Given the description of an element on the screen output the (x, y) to click on. 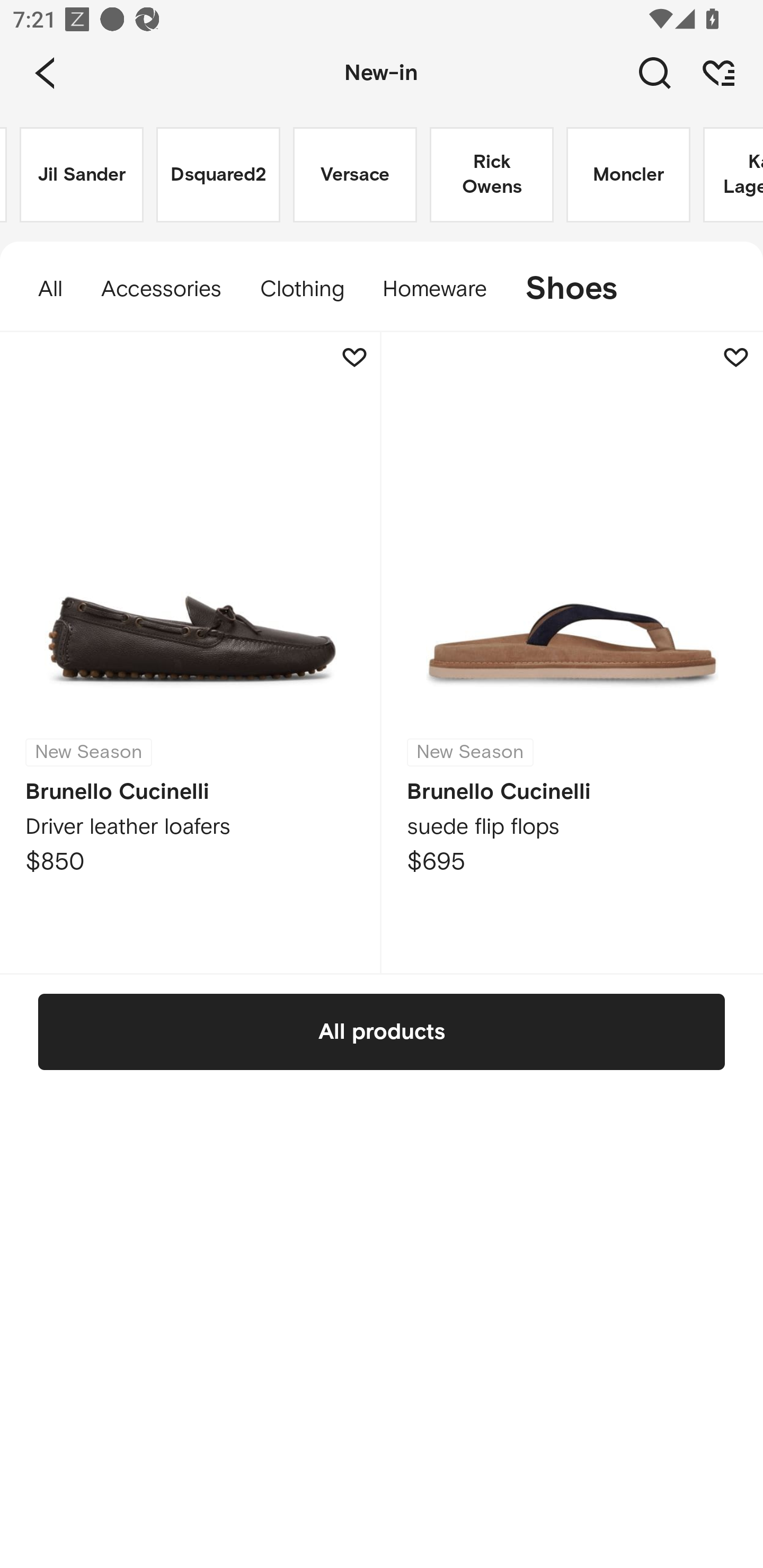
Jil Sander (81, 174)
Dsquared2 (218, 174)
Versace (354, 174)
Rick Owens (491, 174)
Moncler (628, 174)
All (40, 288)
Accessories (160, 288)
Clothing (301, 288)
Homeware (434, 288)
Shoes (580, 288)
All products (381, 1031)
